Given the description of an element on the screen output the (x, y) to click on. 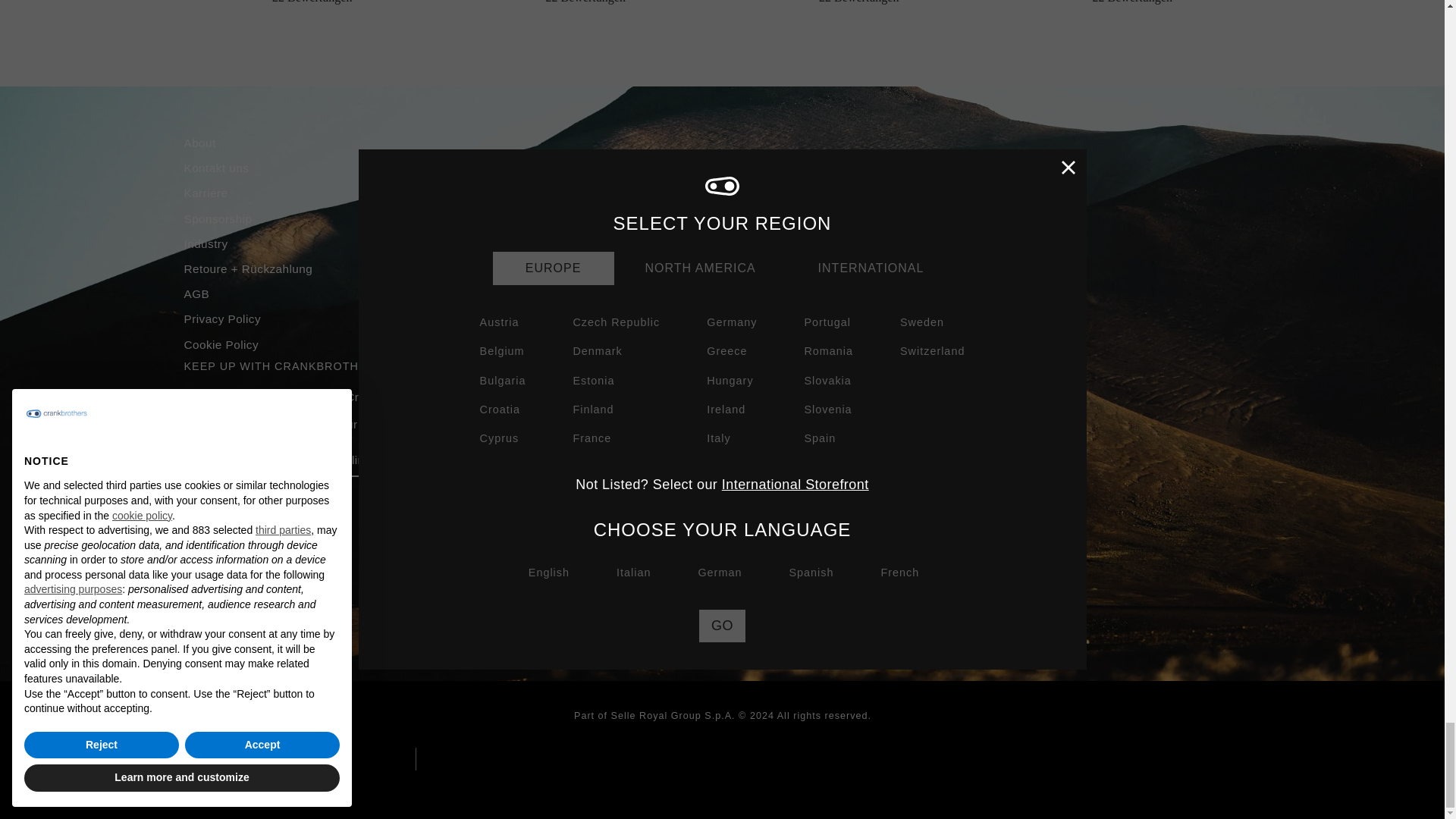
Crankbrothers EU auf YouTube (251, 515)
Crankbrothers EU auf Instagram (192, 515)
Privacy Policy (645, 424)
22 Bewertungen (1132, 2)
22 Bewertungen (312, 2)
Crankbrothers EU auf TikTok (282, 515)
22 Bewertungen (858, 2)
Crankbrothers EU auf Facebook (222, 515)
22 Bewertungen (586, 2)
Terms and Conditions (734, 424)
